Given the description of an element on the screen output the (x, y) to click on. 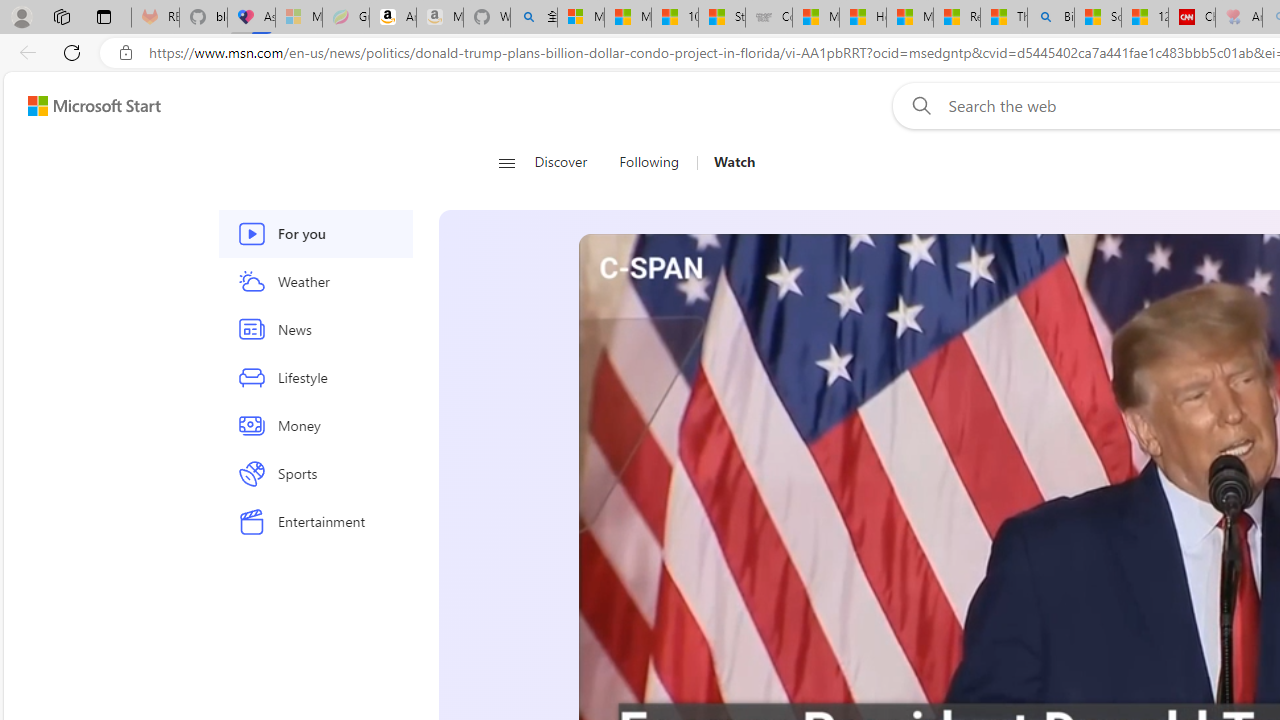
Arthritis: Ask Health Professionals - Sleeping (1239, 17)
